Given the description of an element on the screen output the (x, y) to click on. 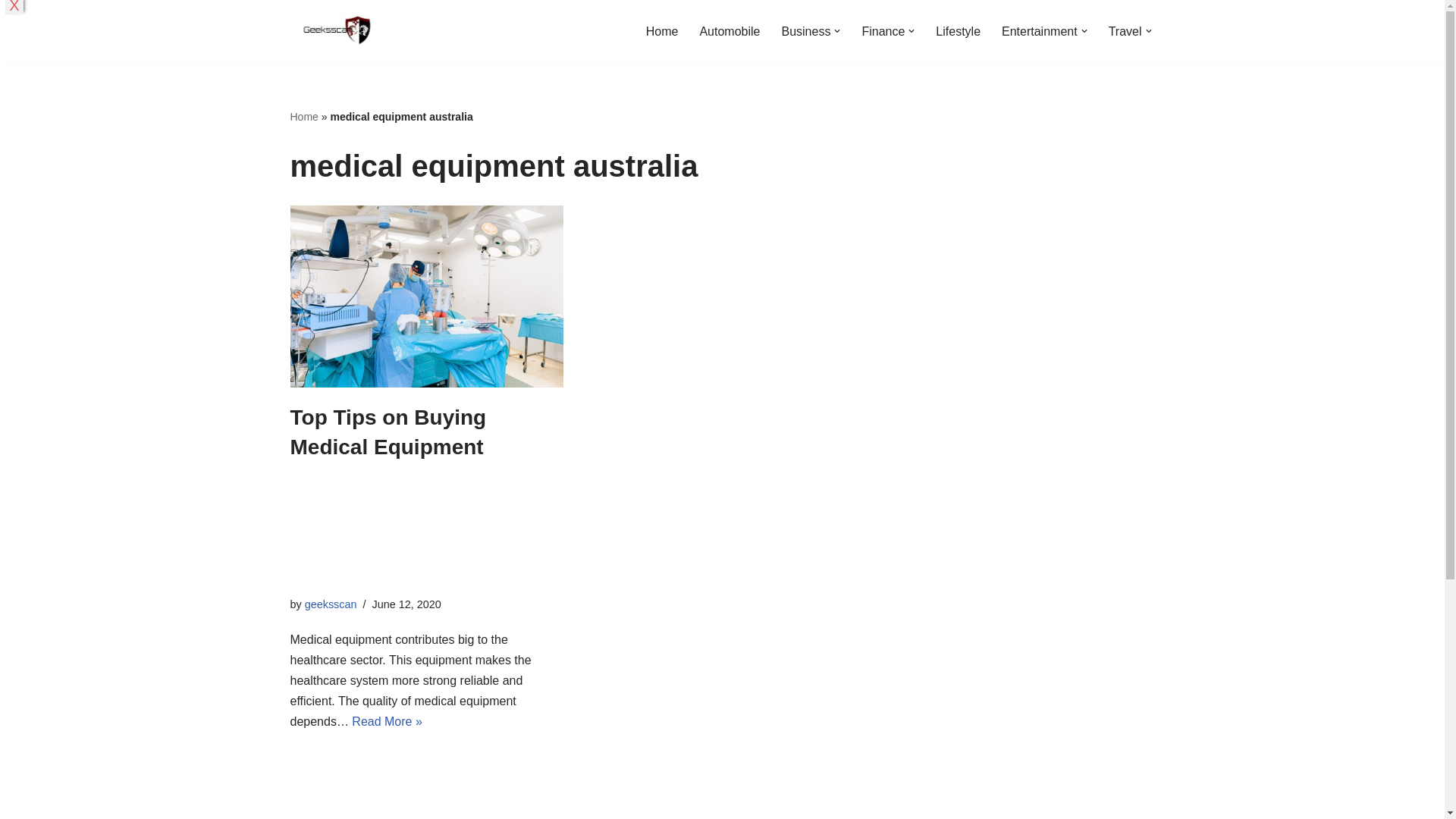
Posts by geeksscan (330, 604)
Automobile (729, 31)
Entertainment (1039, 31)
Top Tips on Buying Medical Equipment (425, 296)
Lifestyle (957, 31)
Business (804, 31)
Finance (882, 31)
Home (662, 31)
Advertisement (425, 524)
Travel (1124, 31)
Skip to content (11, 31)
